Given the description of an element on the screen output the (x, y) to click on. 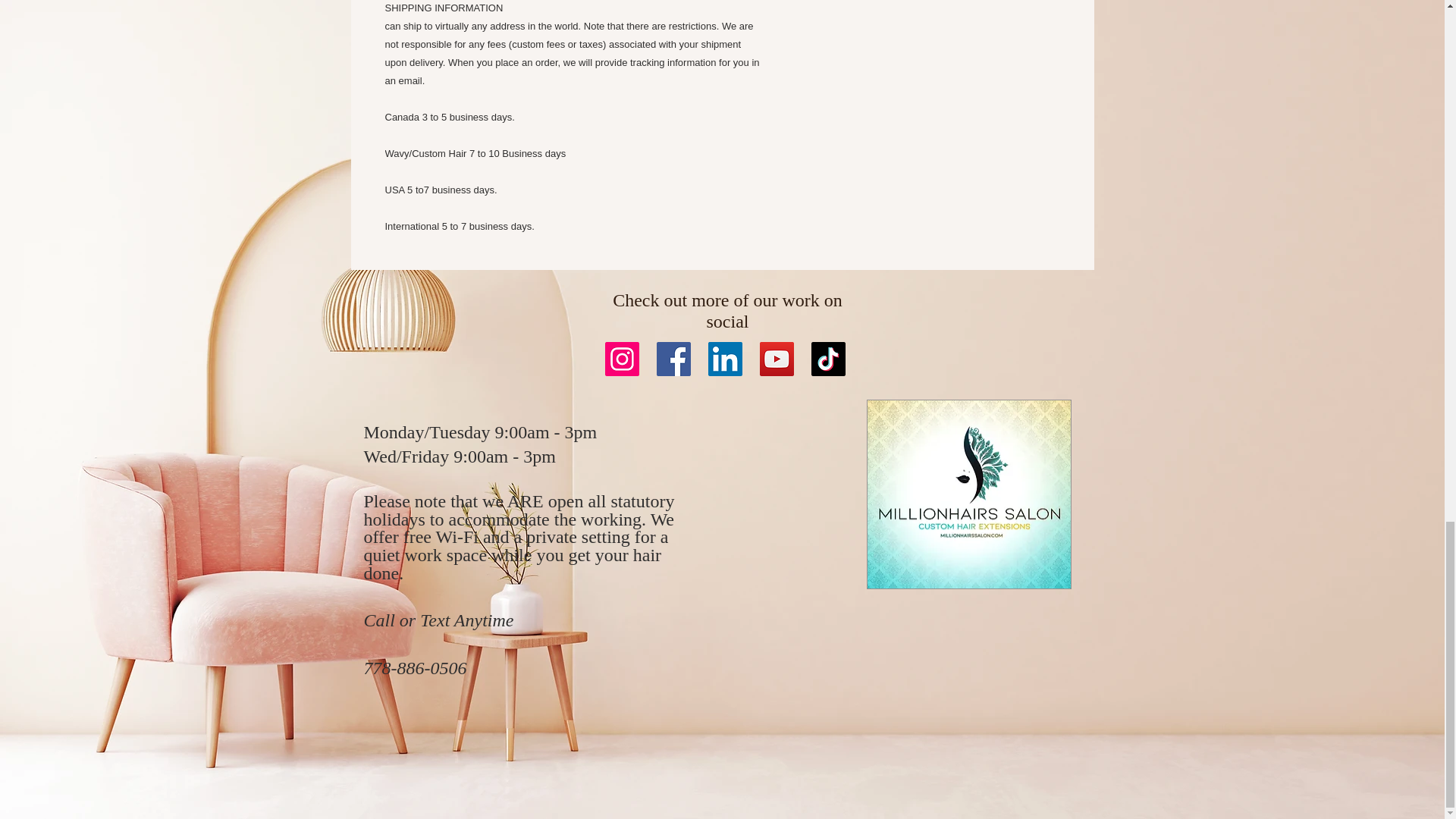
778-886-0506 (415, 668)
